Given the description of an element on the screen output the (x, y) to click on. 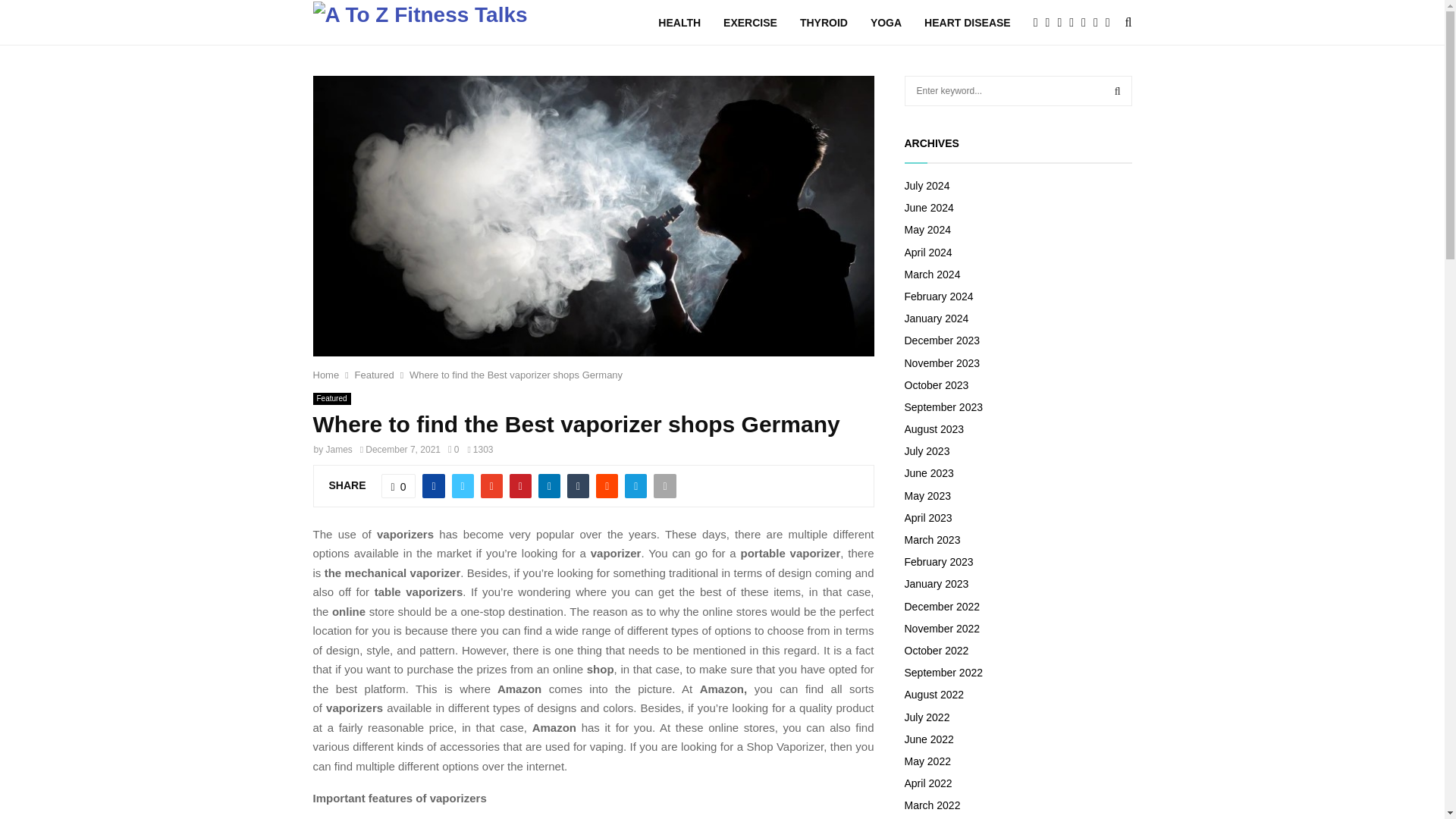
0 (398, 485)
THYROID (823, 22)
HEALTH (679, 22)
Like (398, 485)
James (339, 449)
EXERCISE (750, 22)
Home (326, 374)
Featured (331, 398)
0 (453, 449)
HEART DISEASE (967, 22)
Where to find the Best vaporizer shops Germany (516, 374)
Featured (374, 374)
